Given the description of an element on the screen output the (x, y) to click on. 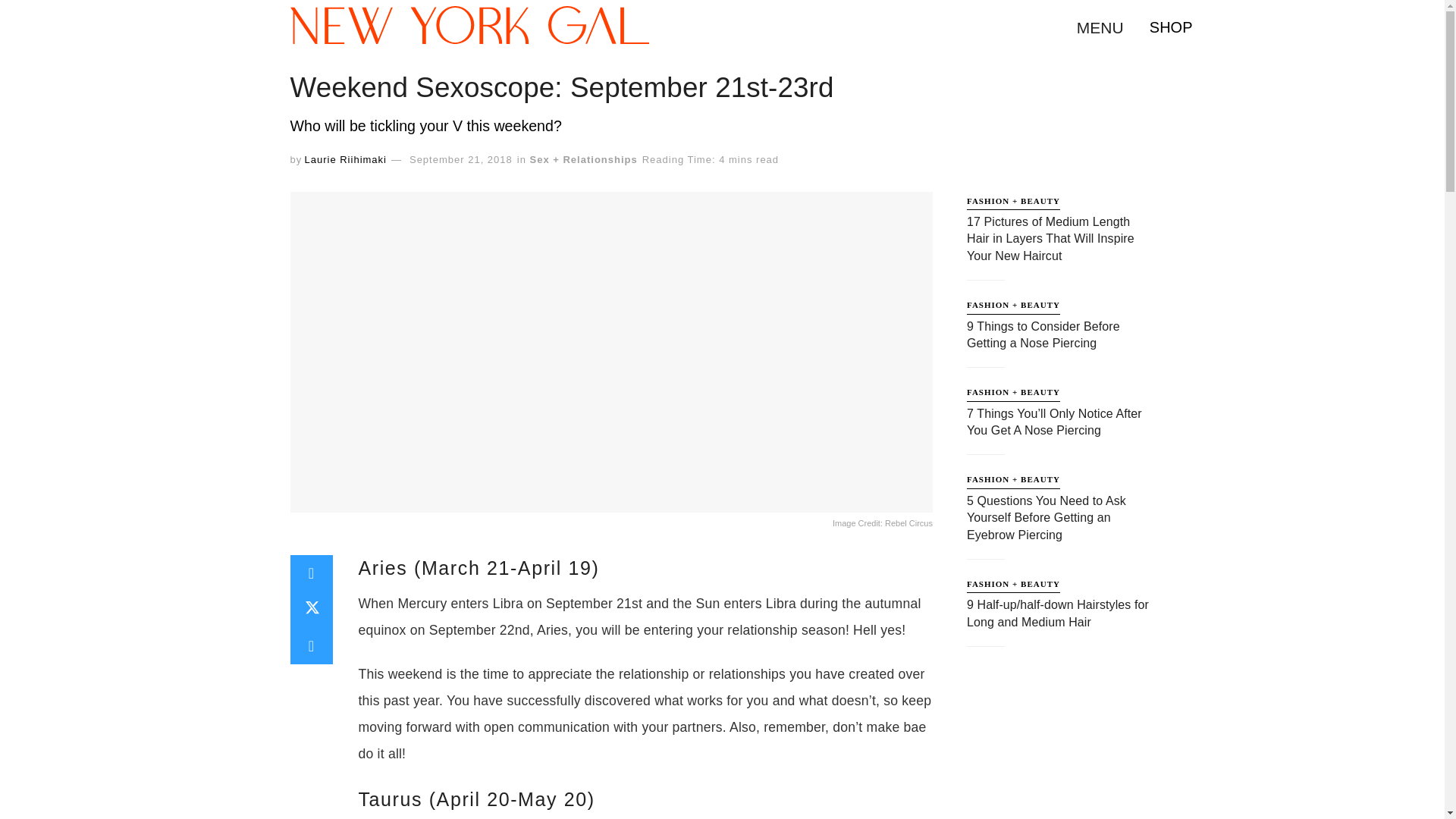
Laurie Riihimaki (344, 159)
SHOP (1171, 27)
9 Things to Consider Before Getting a Nose Piercing (1042, 334)
September 21, 2018 (460, 159)
